Given the description of an element on the screen output the (x, y) to click on. 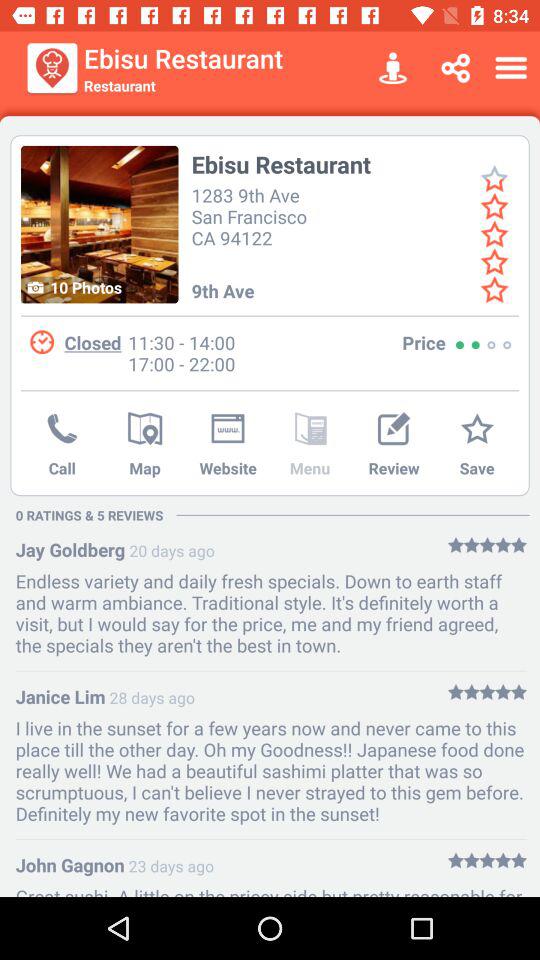
choose item next to the ebisu restaurant (52, 67)
